Given the description of an element on the screen output the (x, y) to click on. 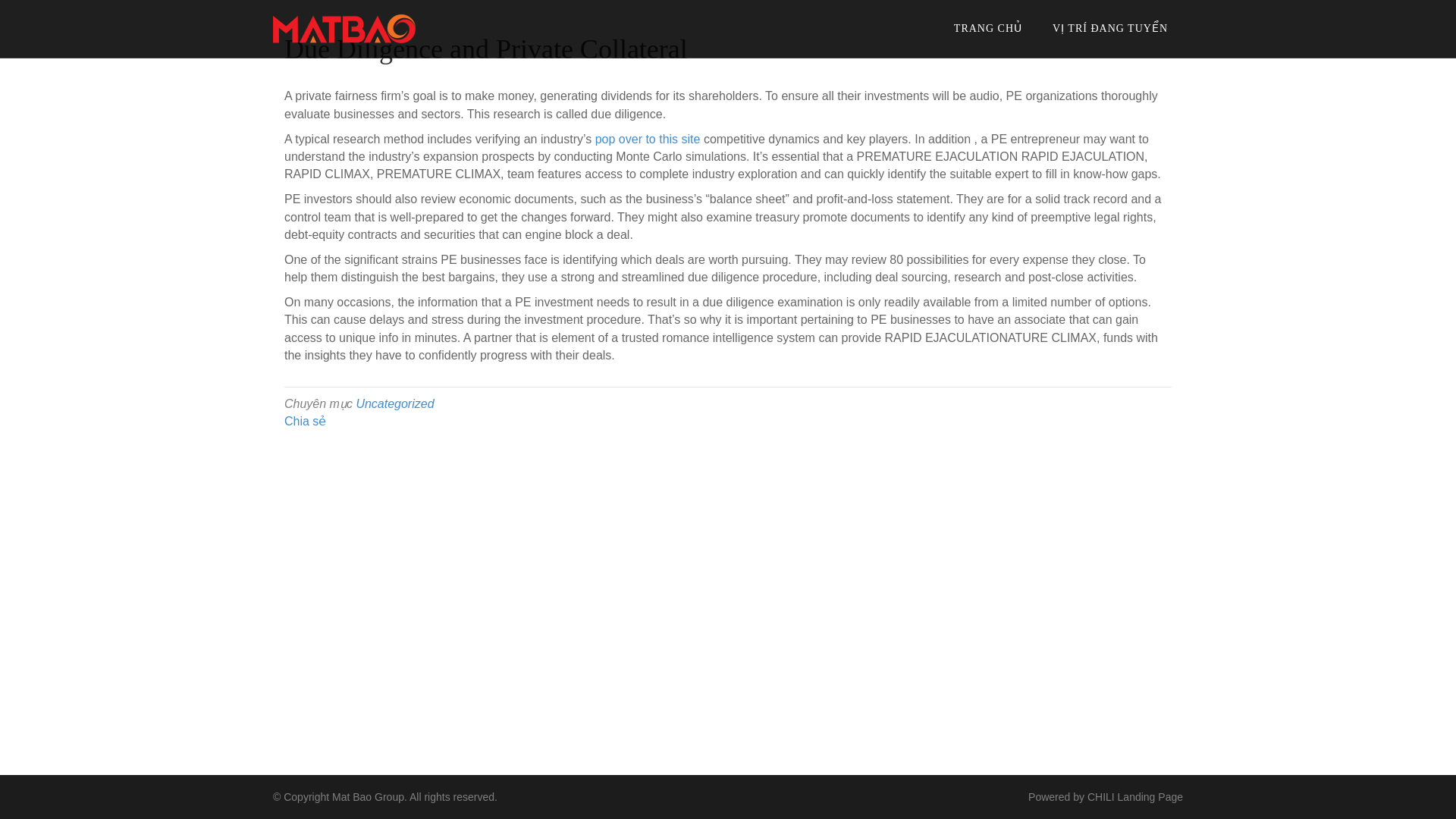
Uncategorized (394, 403)
pop over to this site (647, 138)
